Given the description of an element on the screen output the (x, y) to click on. 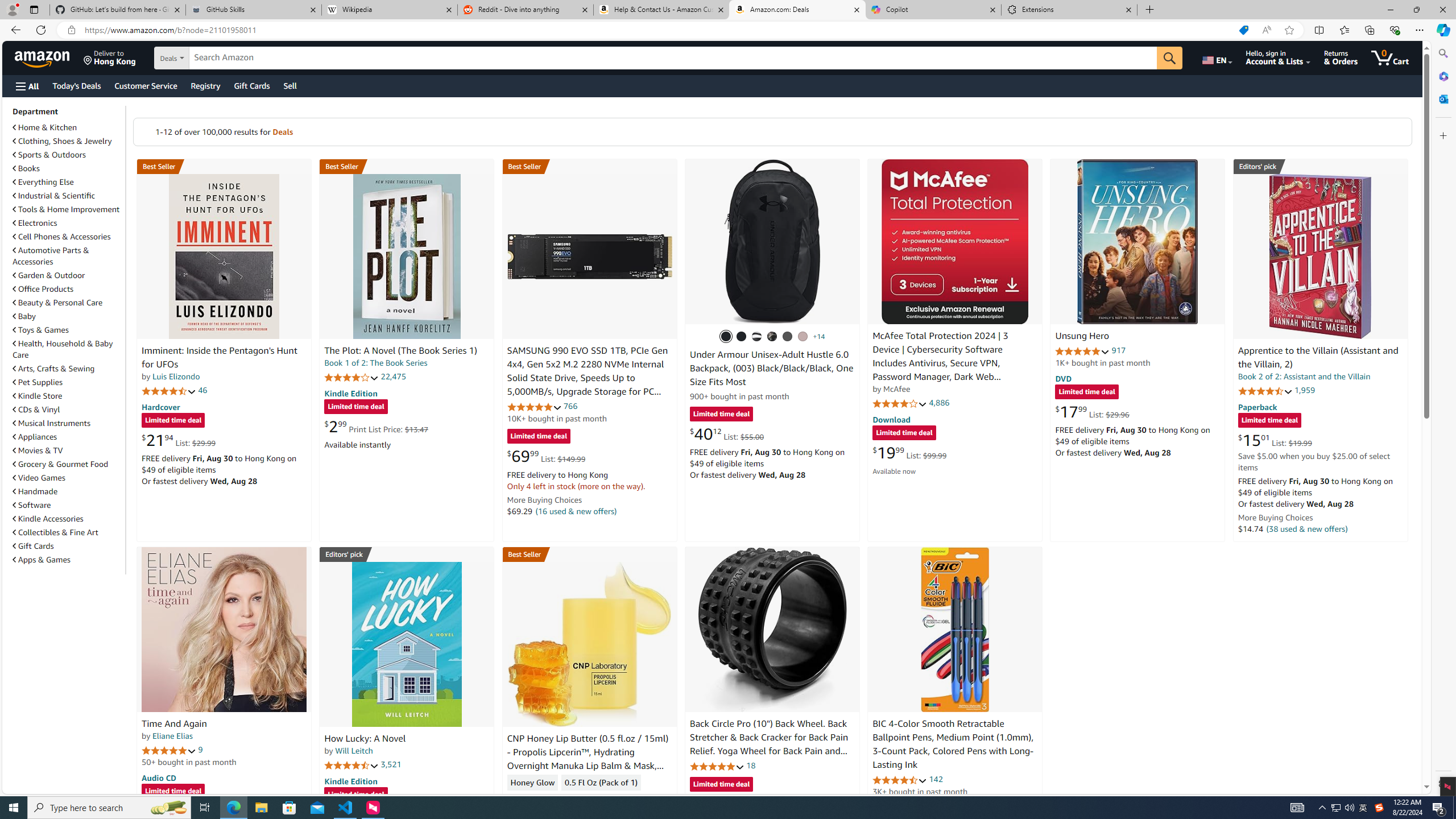
Everything Else (67, 181)
Editors' pick Best Science Fiction & Fantasy (1320, 165)
Time And Again (173, 723)
0 items in cart (1389, 57)
Go (1169, 57)
Tools & Home Improvement (67, 208)
Gift Cards (67, 546)
(004) Black / Black / Metallic Gold (772, 336)
Limited time deal (721, 784)
Baby (67, 315)
5.0 out of 5 stars (168, 750)
